Given the description of an element on the screen output the (x, y) to click on. 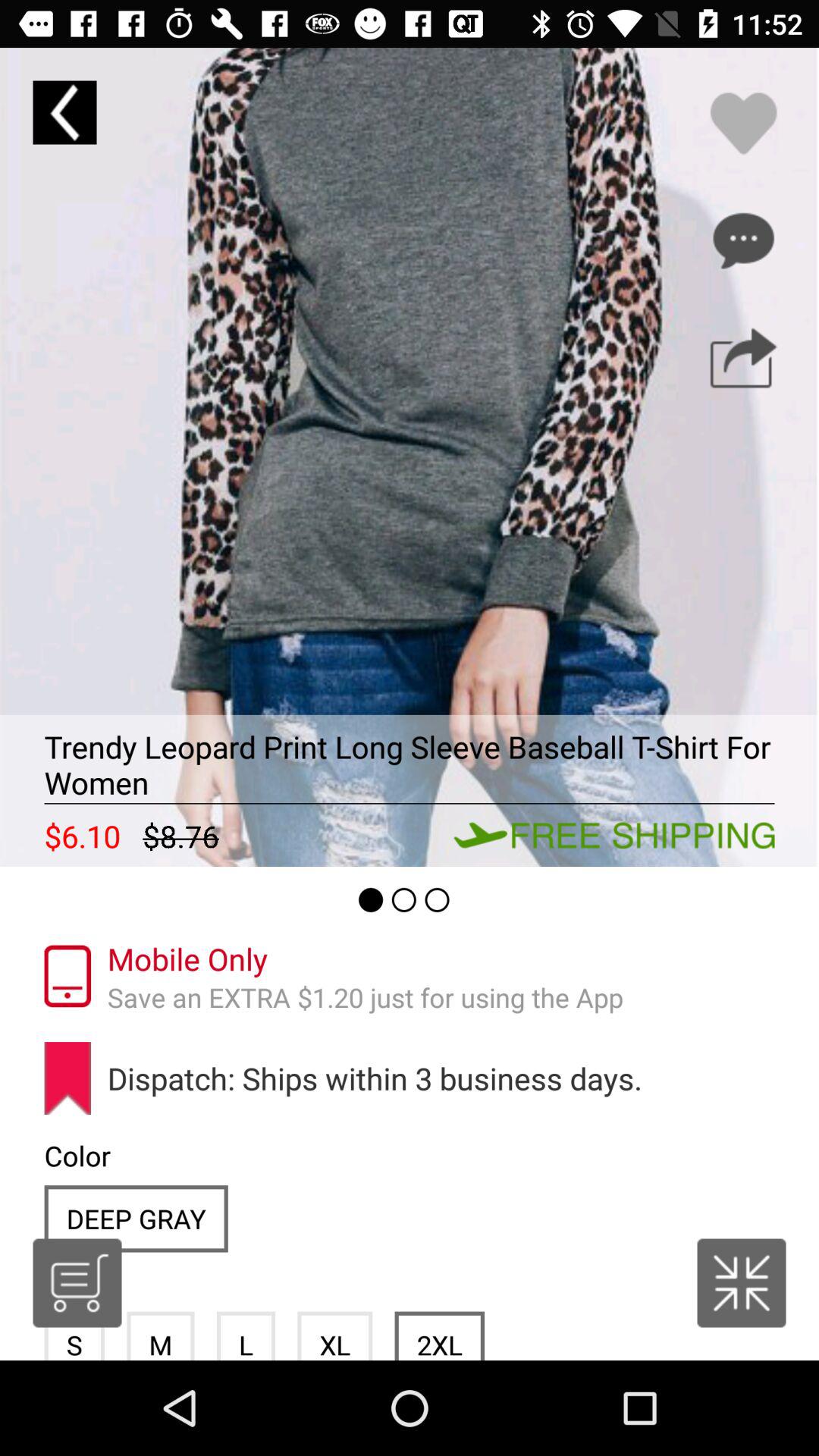
go back (64, 112)
